Given the description of an element on the screen output the (x, y) to click on. 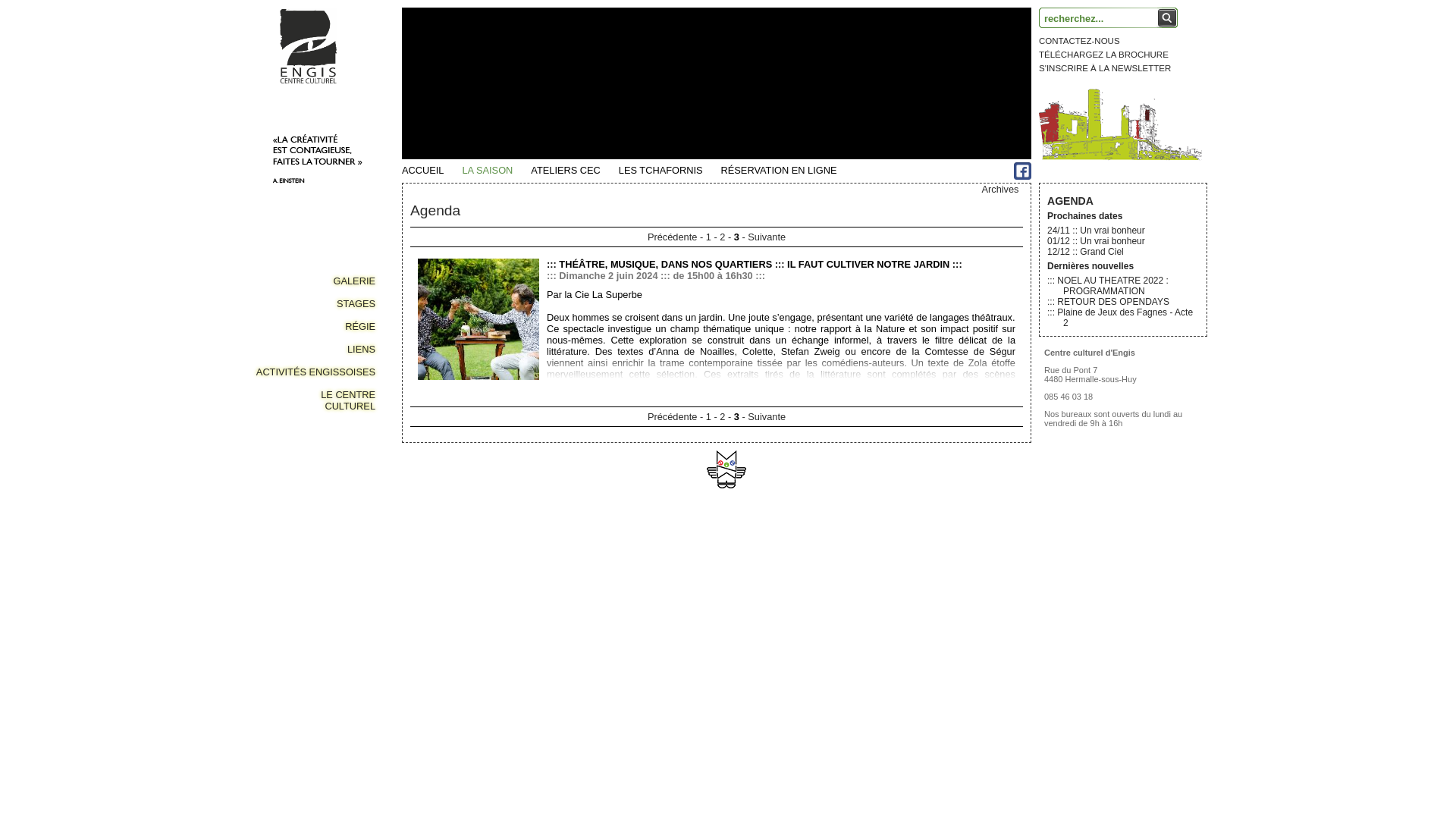
Plaine de Jeux des Fagnes - Acte 2 Element type: text (1124, 317)
Archives Element type: text (1000, 188)
STAGES Element type: text (314, 303)
1 Element type: text (708, 416)
2 Element type: text (721, 236)
01/12 :: Un vrai bonheur Element type: text (1096, 240)
2 Element type: text (721, 416)
24/11 :: Un vrai bonheur Element type: text (1096, 230)
ACCUEIL Element type: text (431, 170)
LES TCHAFORNIS Element type: text (669, 170)
12/12 :: Grand Ciel Element type: text (1085, 251)
NOEL AU THEATRE 2022 : PROGRAMMATION Element type: text (1112, 285)
RETOUR DES OPENDAYS Element type: text (1113, 301)
GALERIE Element type: text (314, 280)
LA SAISON Element type: text (495, 170)
Prochaines dates Element type: text (1084, 215)
CONTACTEZ-NOUS Element type: text (1079, 40)
ATELIERS CEC Element type: text (574, 170)
Rue du Pont 7
4480 Hermalle-sous-Huy Element type: text (1090, 374)
LE CENTRE
CULTUREL Element type: text (314, 400)
1 Element type: text (708, 236)
LIENS Element type: text (314, 348)
